Given the description of an element on the screen output the (x, y) to click on. 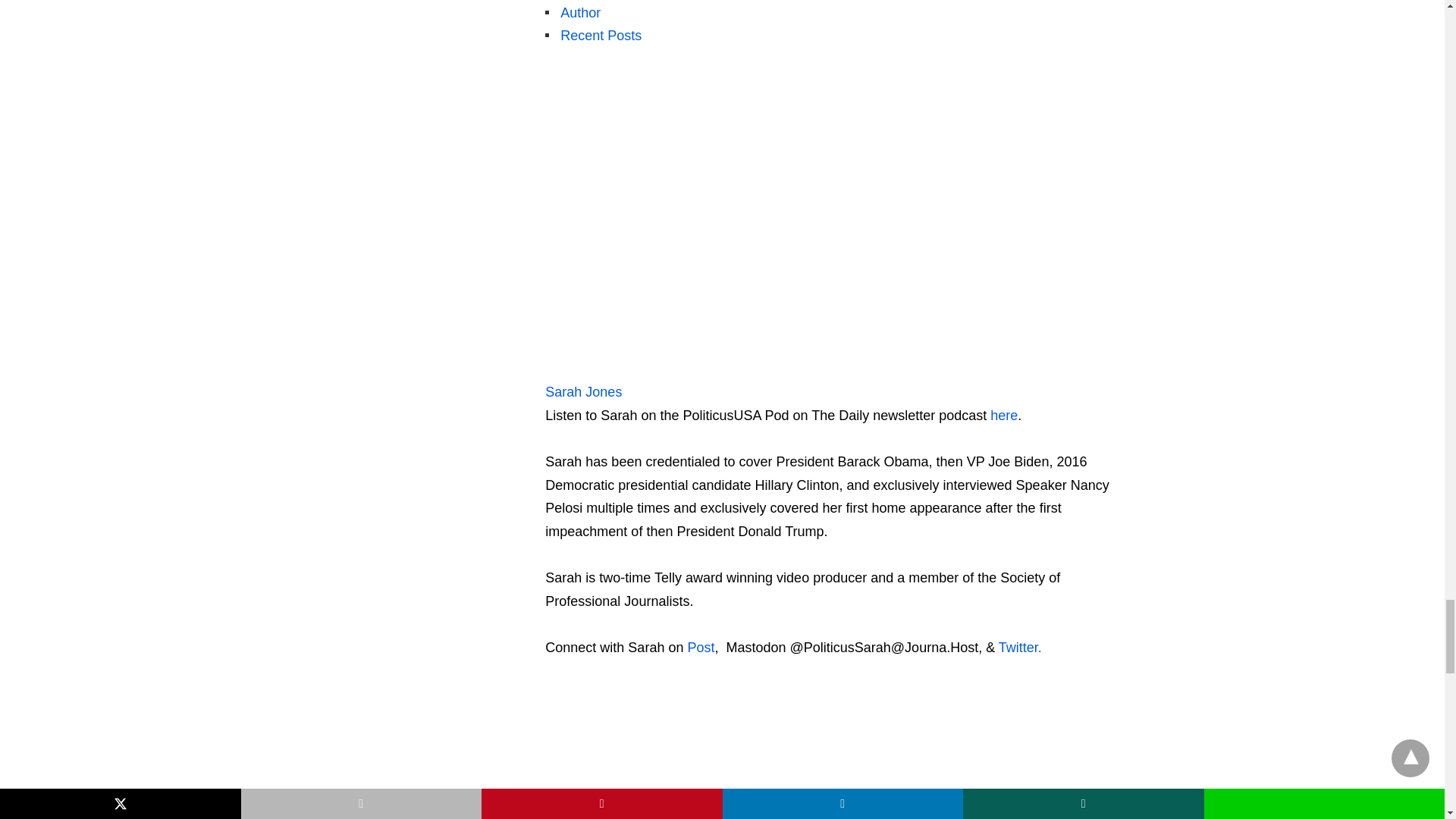
Post (700, 647)
Twitter. (1020, 647)
Recent Posts (601, 35)
Sarah Jones (639, 368)
here (1003, 415)
Author (579, 12)
Sarah Jones (582, 391)
